Given the description of an element on the screen output the (x, y) to click on. 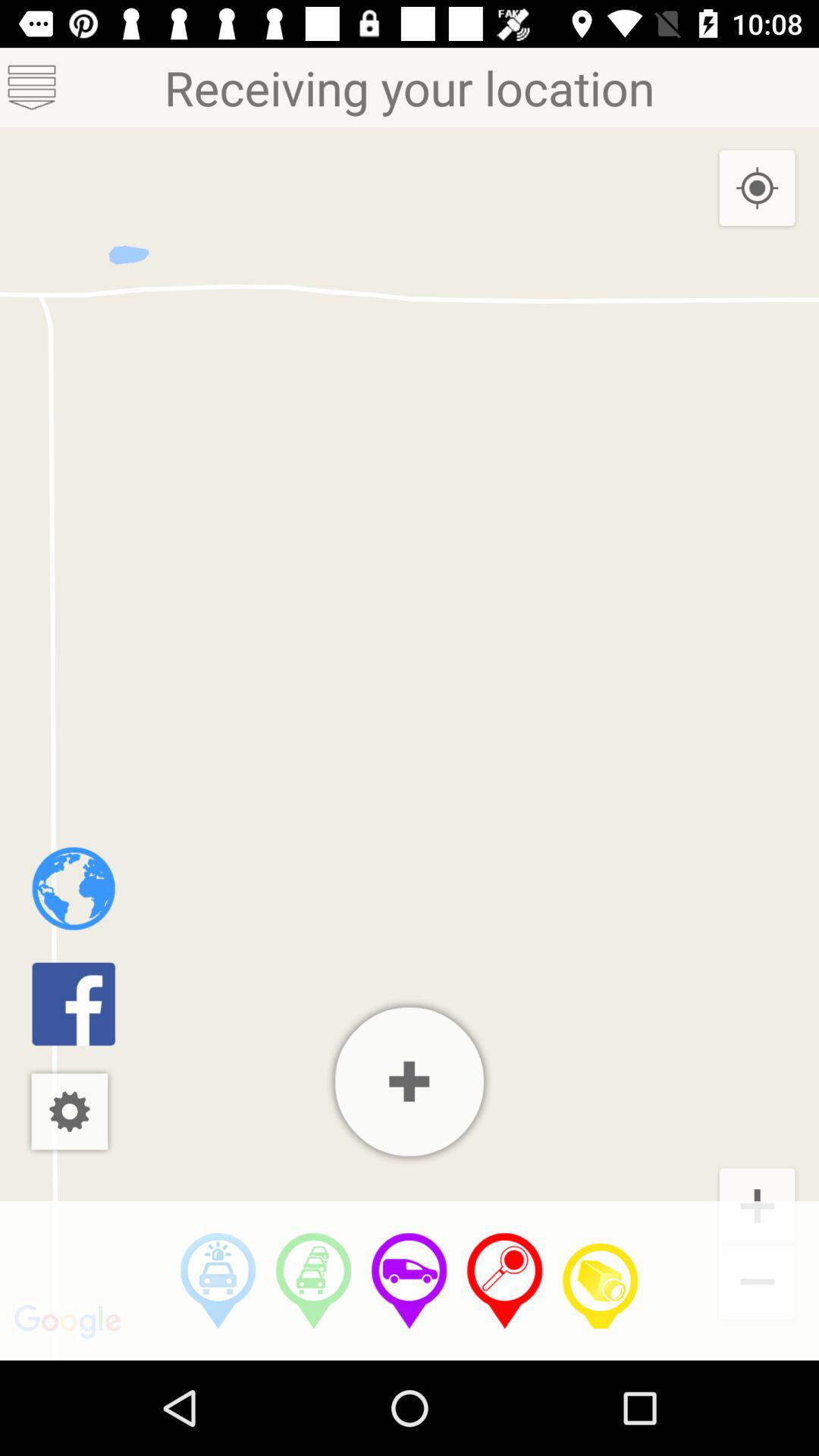
go to menu (31, 87)
